Given the description of an element on the screen output the (x, y) to click on. 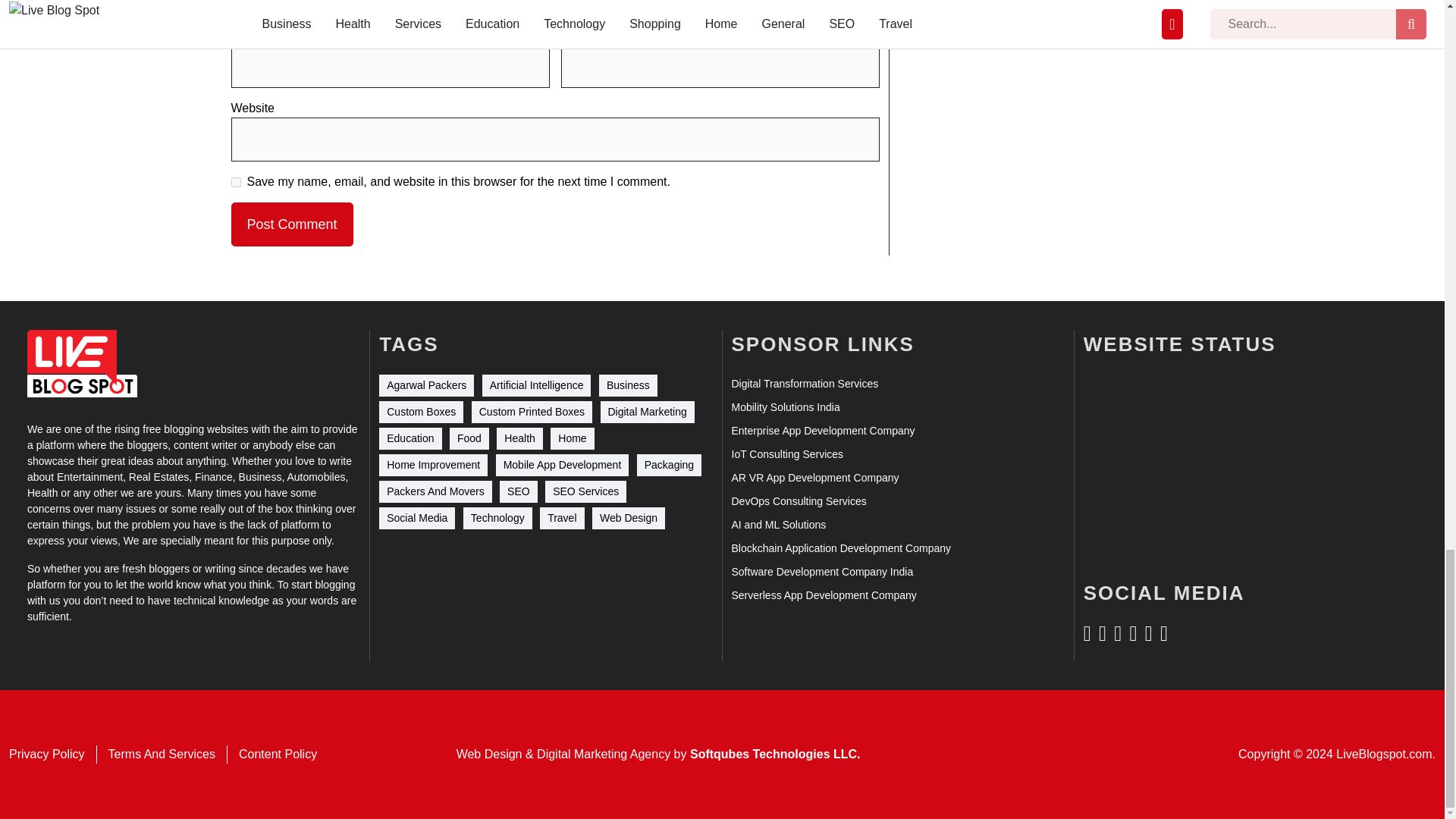
Live Blog Spot (81, 363)
IoT Consulting Services (786, 454)
AR VR App Development Company (814, 478)
Post Comment (291, 224)
Post Comment (291, 224)
yes (235, 182)
DevOps Consulting Services (798, 501)
Digital Transformation Services (803, 383)
Mobility Solutions India (785, 407)
Enterprise App Development Company (822, 430)
